Given the description of an element on the screen output the (x, y) to click on. 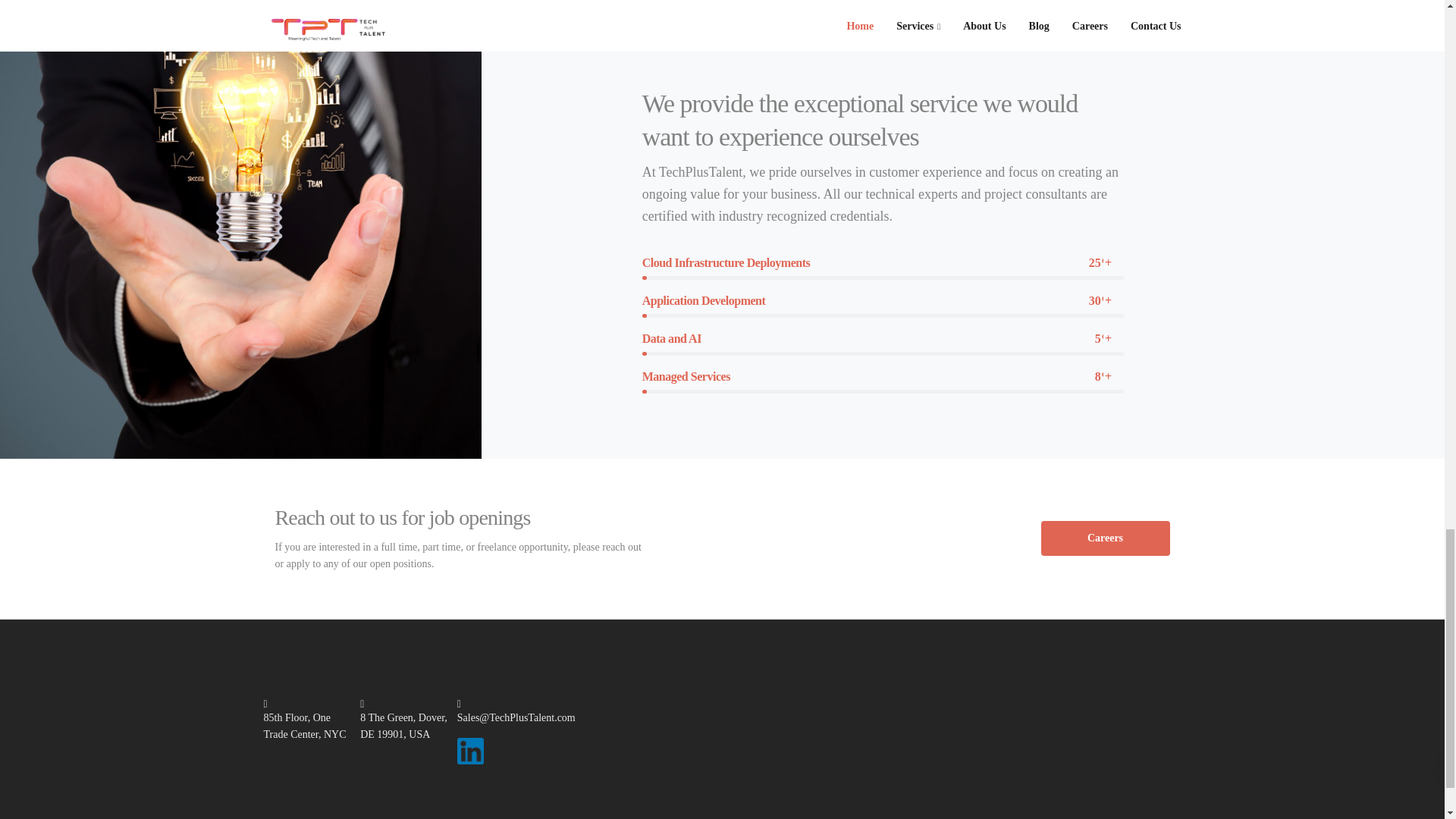
Careers (1105, 538)
